Given the description of an element on the screen output the (x, y) to click on. 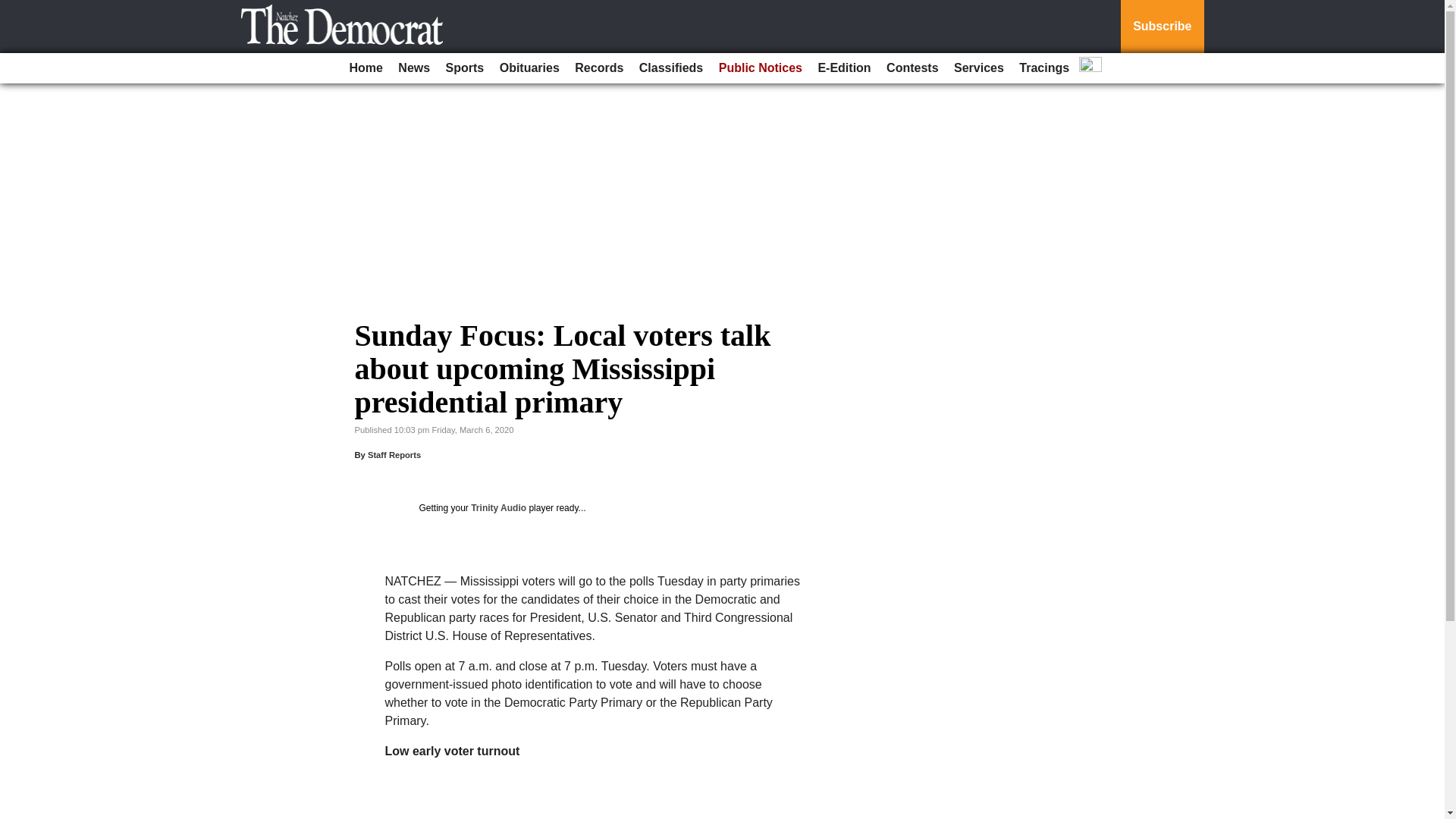
Sports (464, 68)
Public Notices (760, 68)
Subscribe (1162, 26)
E-Edition (843, 68)
Go (13, 9)
News (413, 68)
Classifieds (671, 68)
Staff Reports (394, 454)
Contests (911, 68)
Services (978, 68)
